Given the description of an element on the screen output the (x, y) to click on. 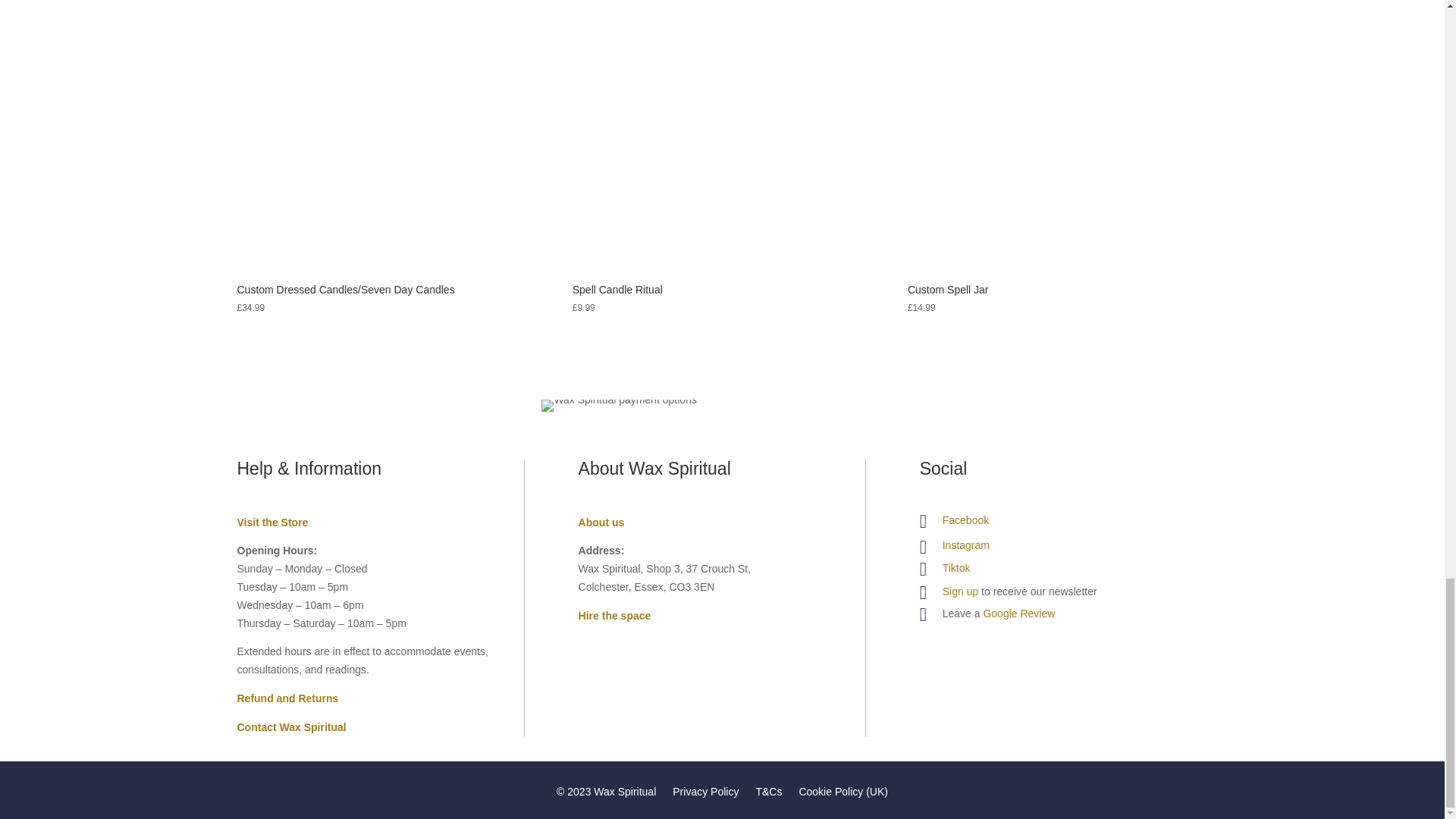
Wax Spiritual payment options (619, 405)
Tiktok (956, 567)
Newsletter (960, 591)
Instagram (966, 544)
Review (1018, 613)
Facebook (965, 520)
